Given the description of an element on the screen output the (x, y) to click on. 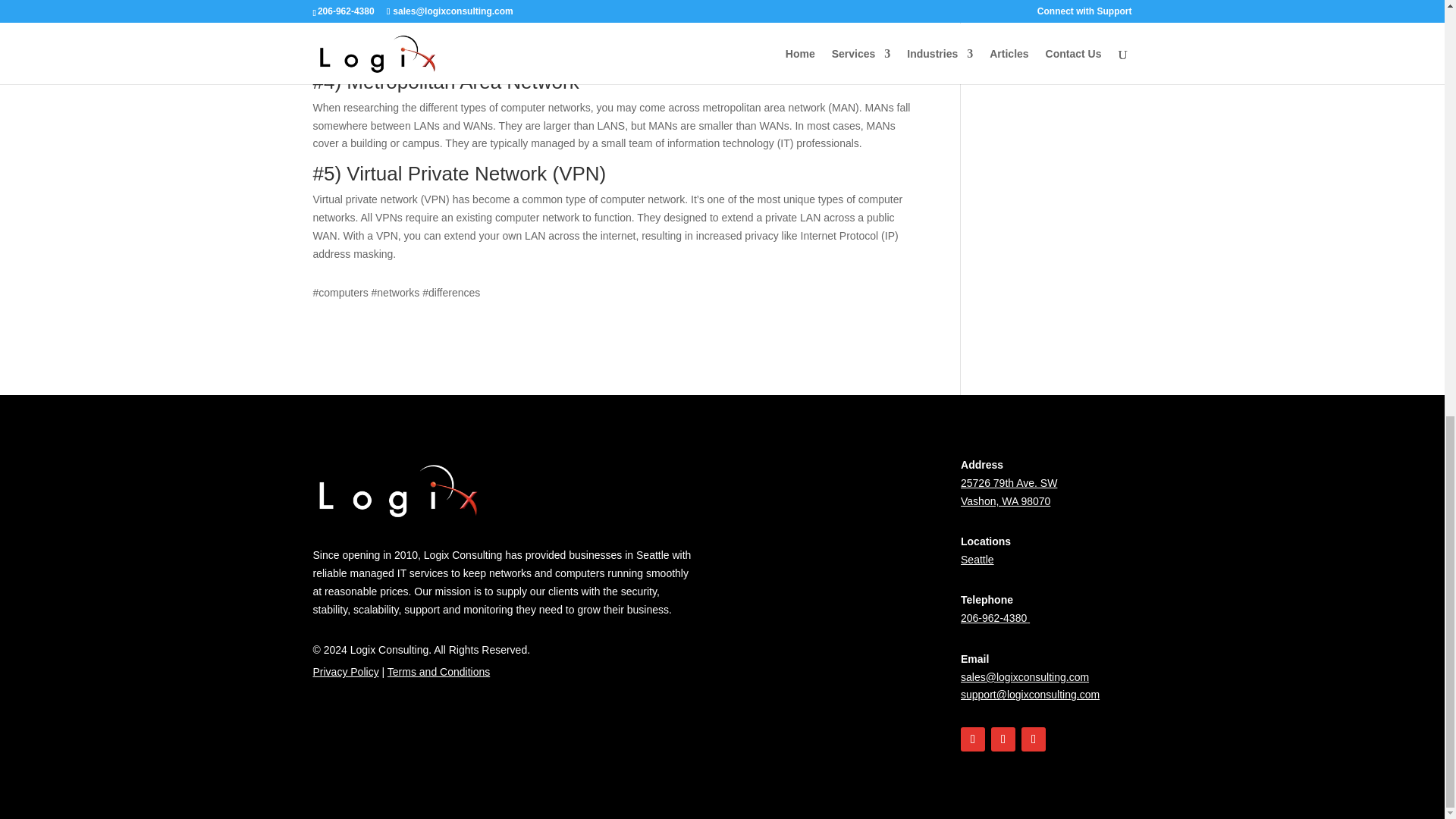
Follow on X (1002, 739)
Logix-Logo-White (399, 490)
Follow on LinkedIn (1033, 739)
Follow on Facebook (972, 739)
